Given the description of an element on the screen output the (x, y) to click on. 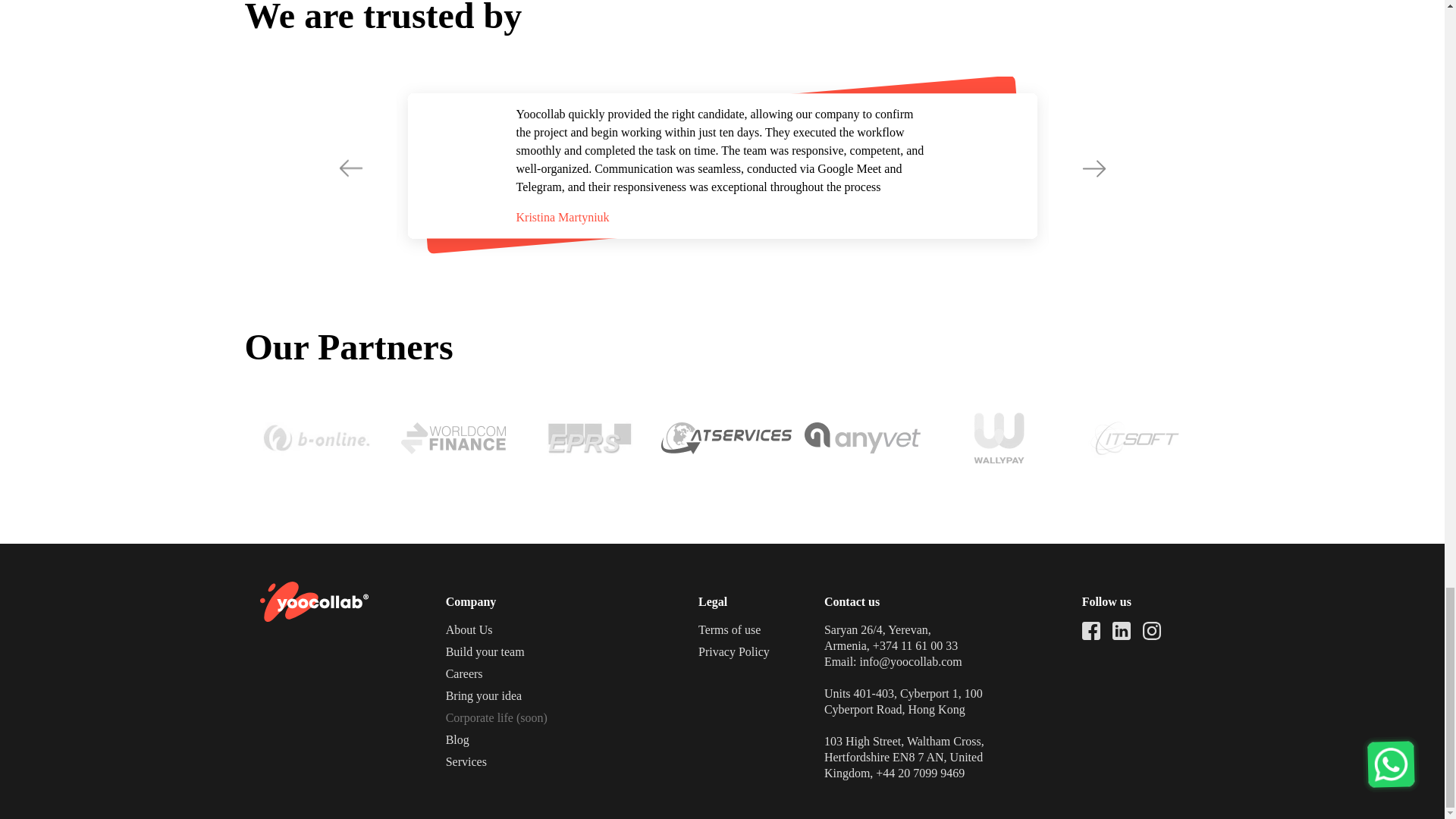
Privacy Policy (734, 651)
Bring your idea (483, 695)
Blog (456, 739)
Build your team (484, 651)
Terms of use (729, 629)
Services (465, 761)
Careers (464, 673)
About Us (469, 629)
